Given the description of an element on the screen output the (x, y) to click on. 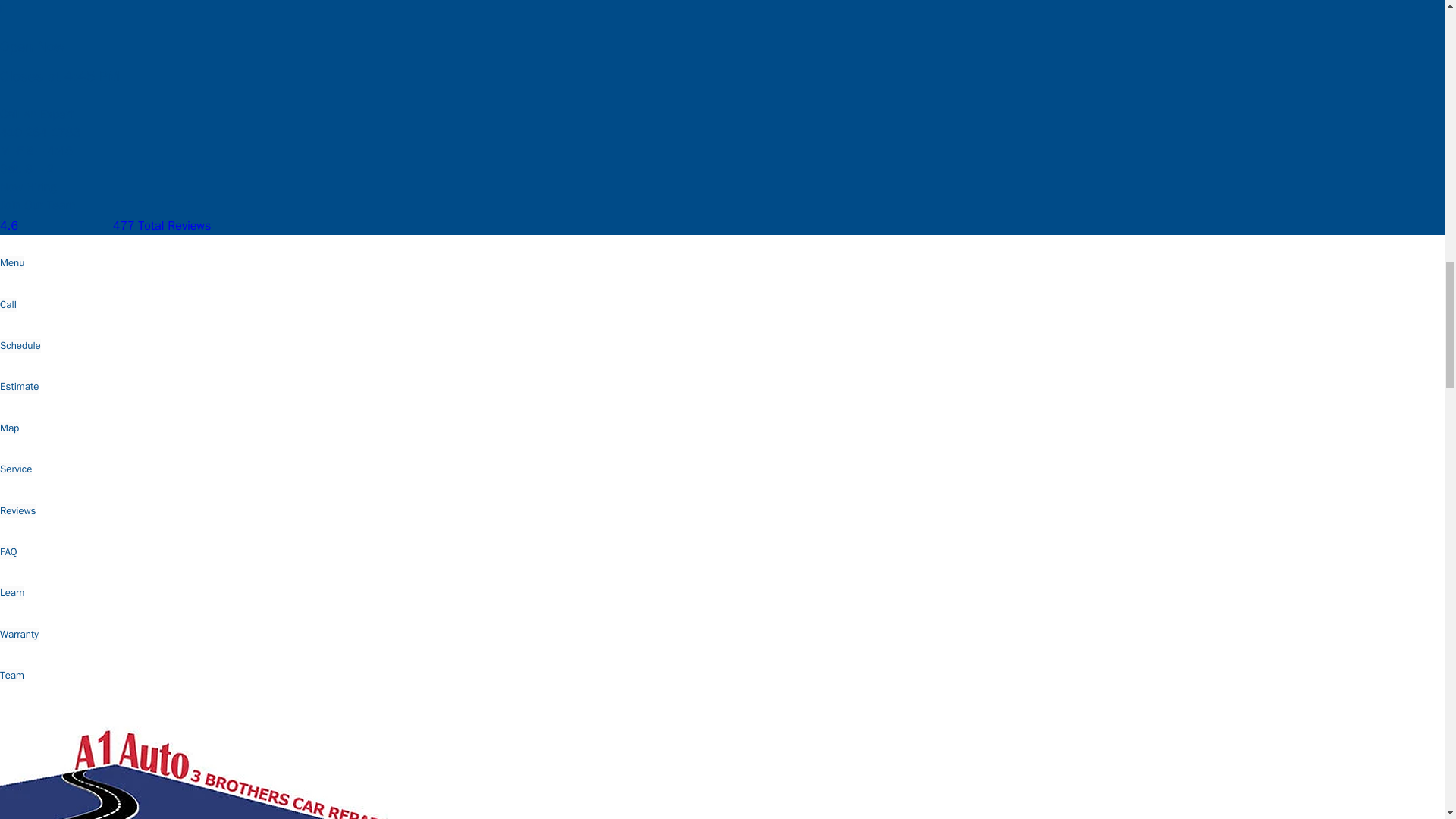
Engine (27, 27)
Find A1 Auto 3 Brothers Car Repair (75, 787)
Find A1 Auto Three Brothers Car Repair (127, 723)
